Given the description of an element on the screen output the (x, y) to click on. 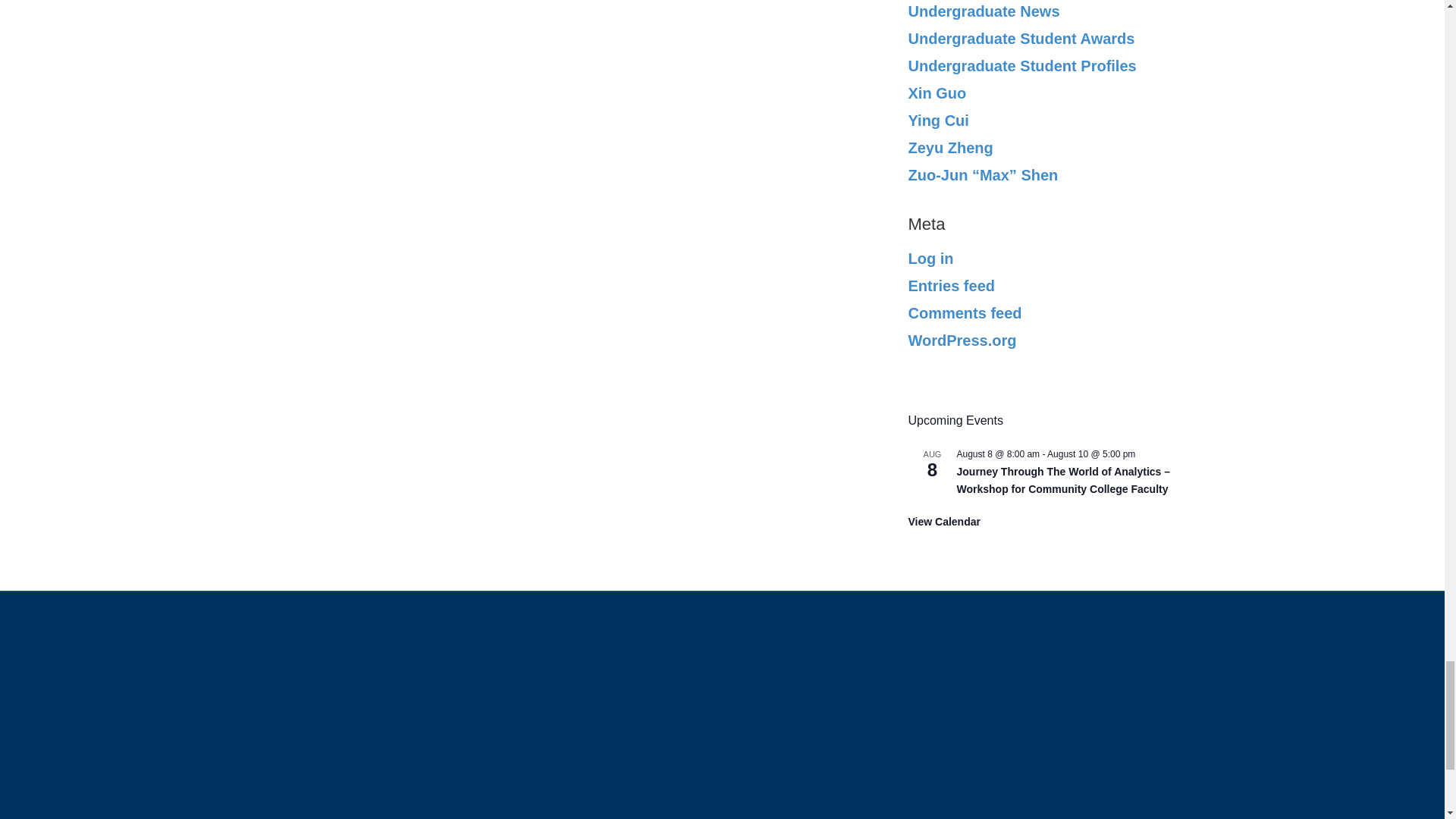
View more events. (943, 521)
